Given the description of an element on the screen output the (x, y) to click on. 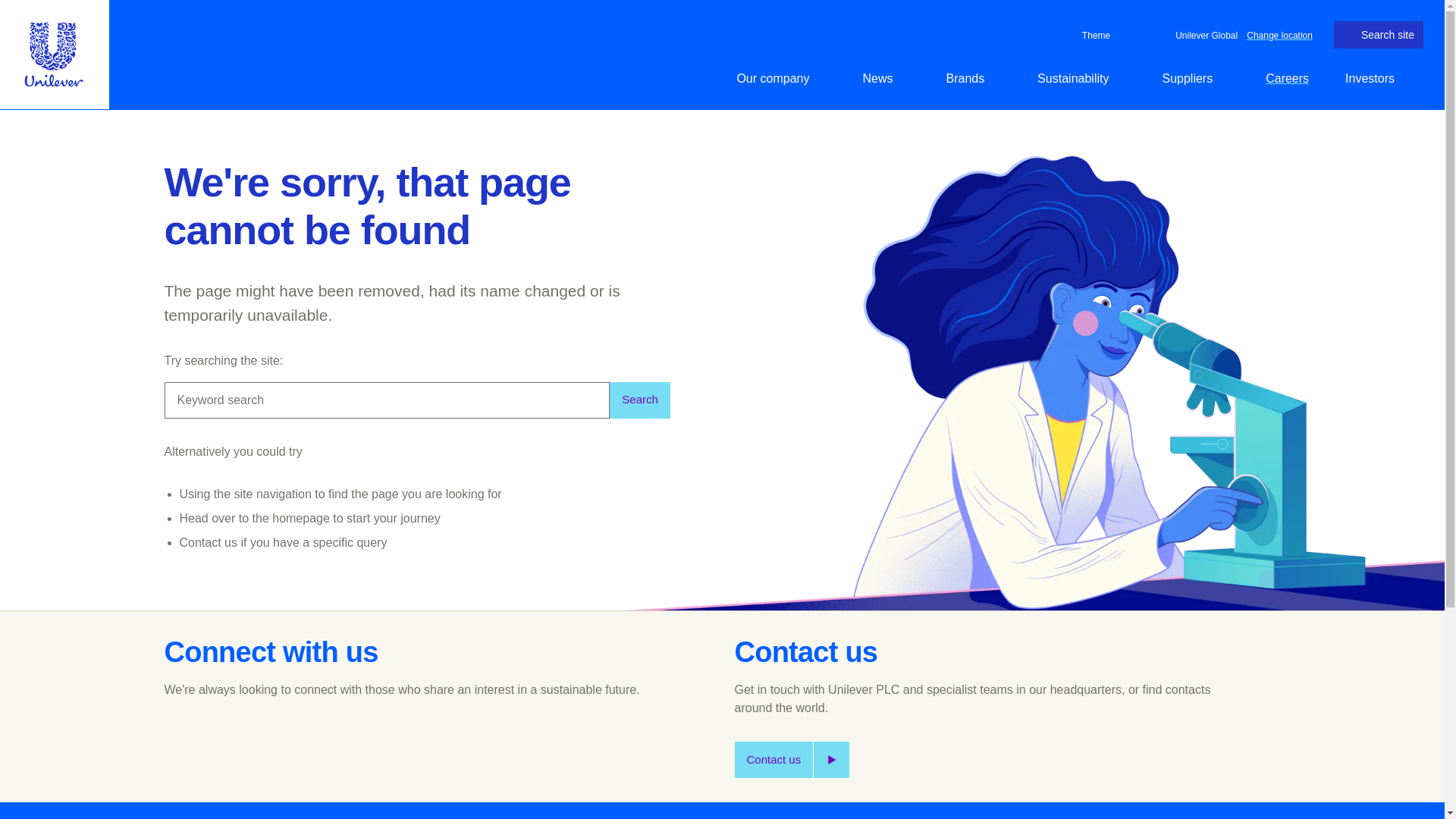
Search site (1378, 34)
Brands (973, 78)
Theme (1093, 35)
Change location (1279, 34)
Sustainability (1081, 78)
News (885, 78)
Our company (780, 78)
